Given the description of an element on the screen output the (x, y) to click on. 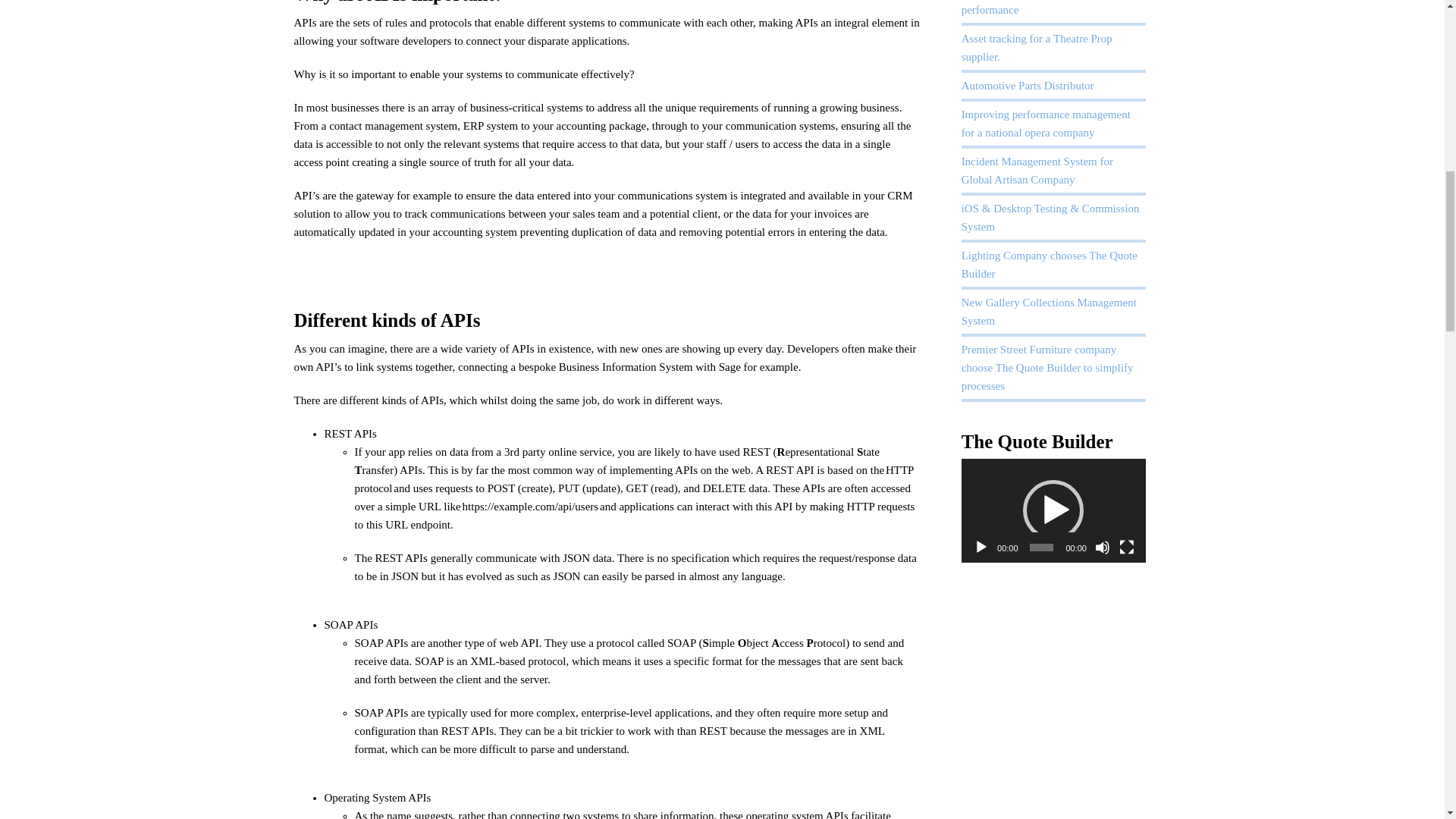
Fullscreen (1126, 547)
Play (981, 547)
Mute (1101, 547)
